Given the description of an element on the screen output the (x, y) to click on. 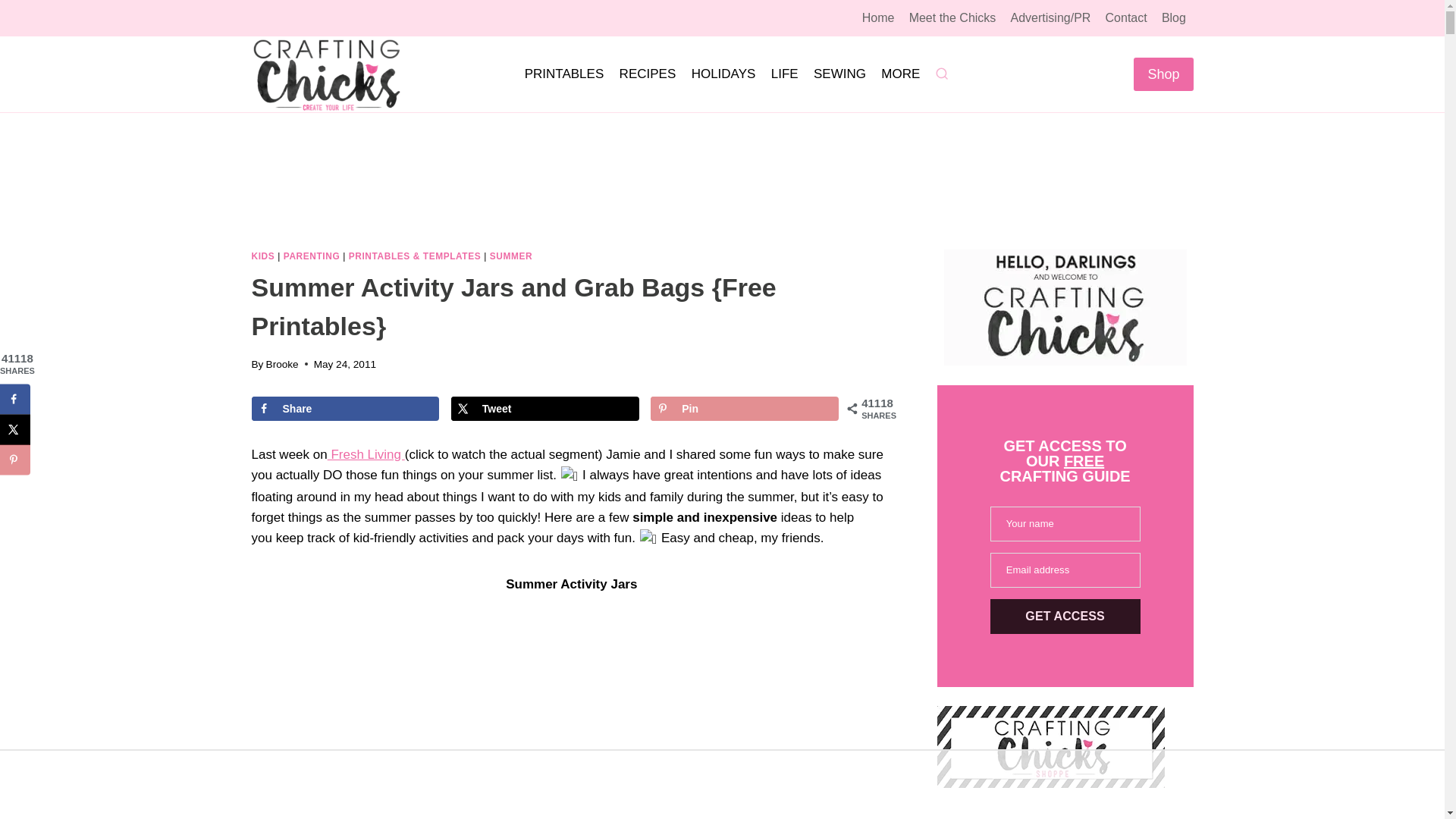
KIDS (263, 255)
Blog (1173, 18)
Meet the Chicks (952, 18)
Share (345, 408)
SEWING (839, 74)
SUMMER (510, 255)
Tweet (545, 408)
HOLIDAYS (722, 74)
Home (877, 18)
Brooke (282, 364)
